Given the description of an element on the screen output the (x, y) to click on. 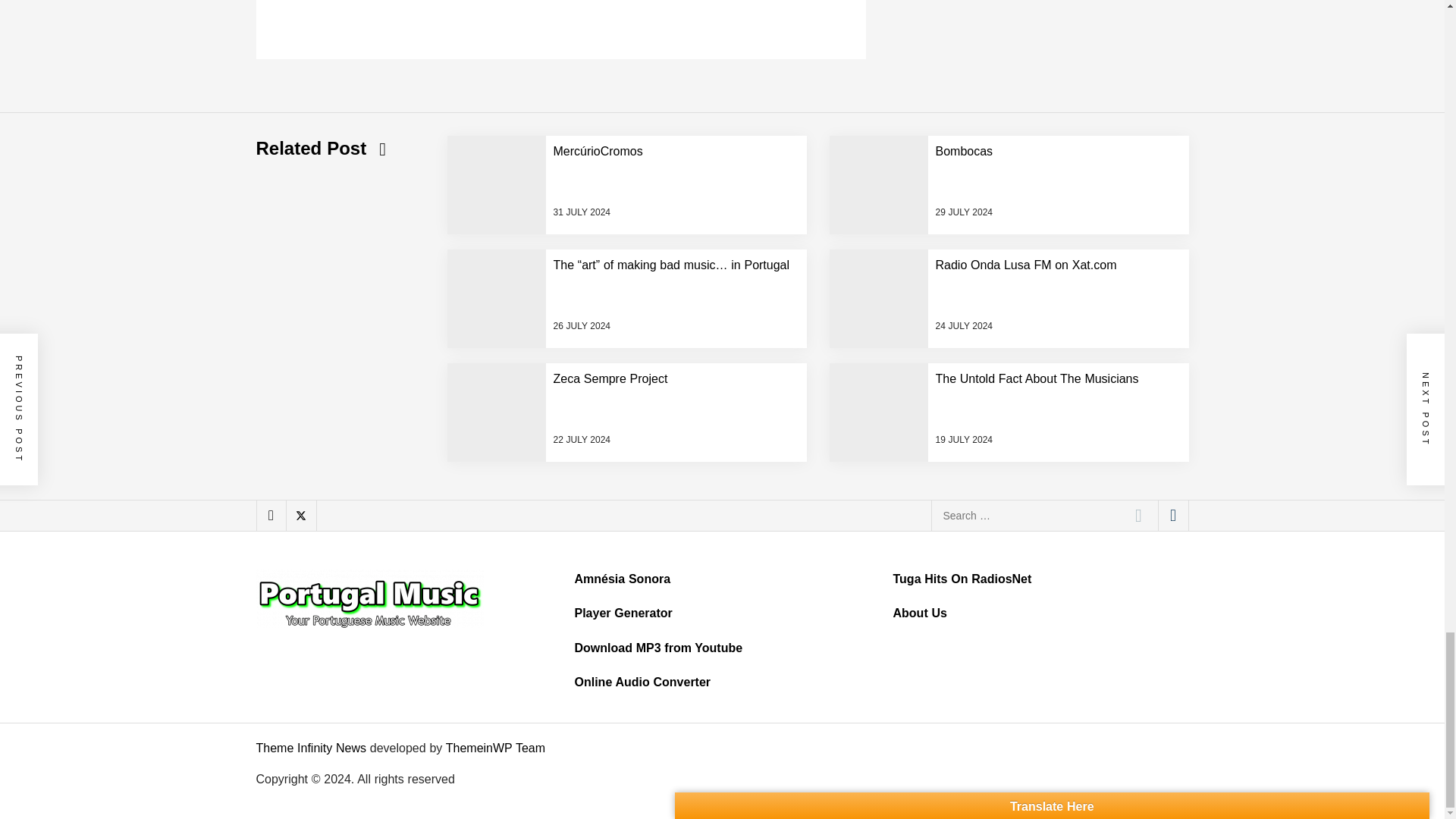
Search (1138, 515)
Search (1138, 515)
